Given the description of an element on the screen output the (x, y) to click on. 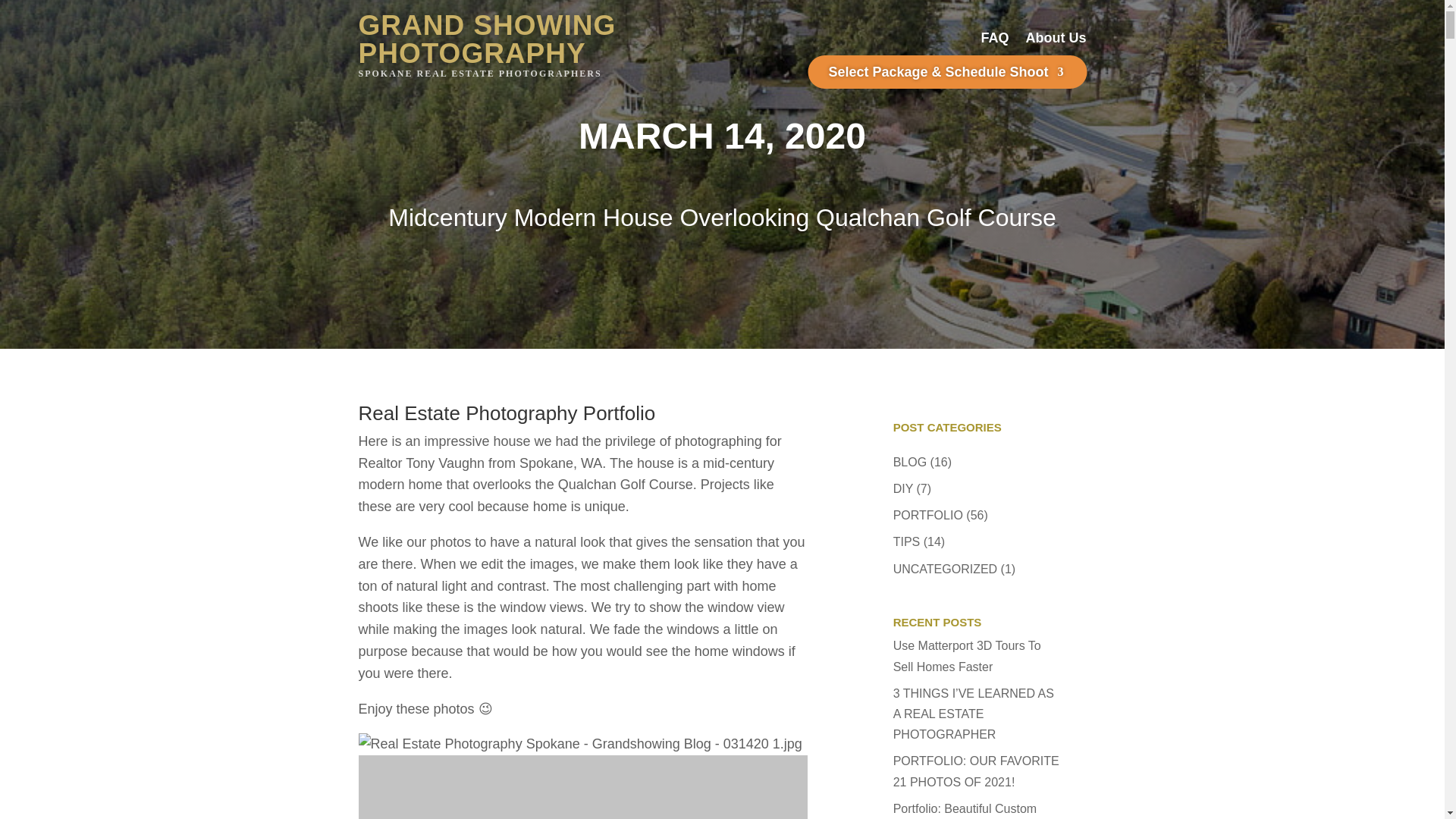
UNCATEGORIZED (945, 568)
FAQ (994, 40)
DIY (902, 488)
About Us (1055, 40)
Portfolio: Beautiful Custom Home In North Spokane (964, 810)
BLOG (909, 461)
PORTFOLIO: OUR FAVORITE 21 PHOTOS OF 2021! (976, 770)
Use Matterport 3D Tours To Sell Homes Faster (967, 655)
PORTFOLIO (927, 514)
TIPS (906, 541)
